Given the description of an element on the screen output the (x, y) to click on. 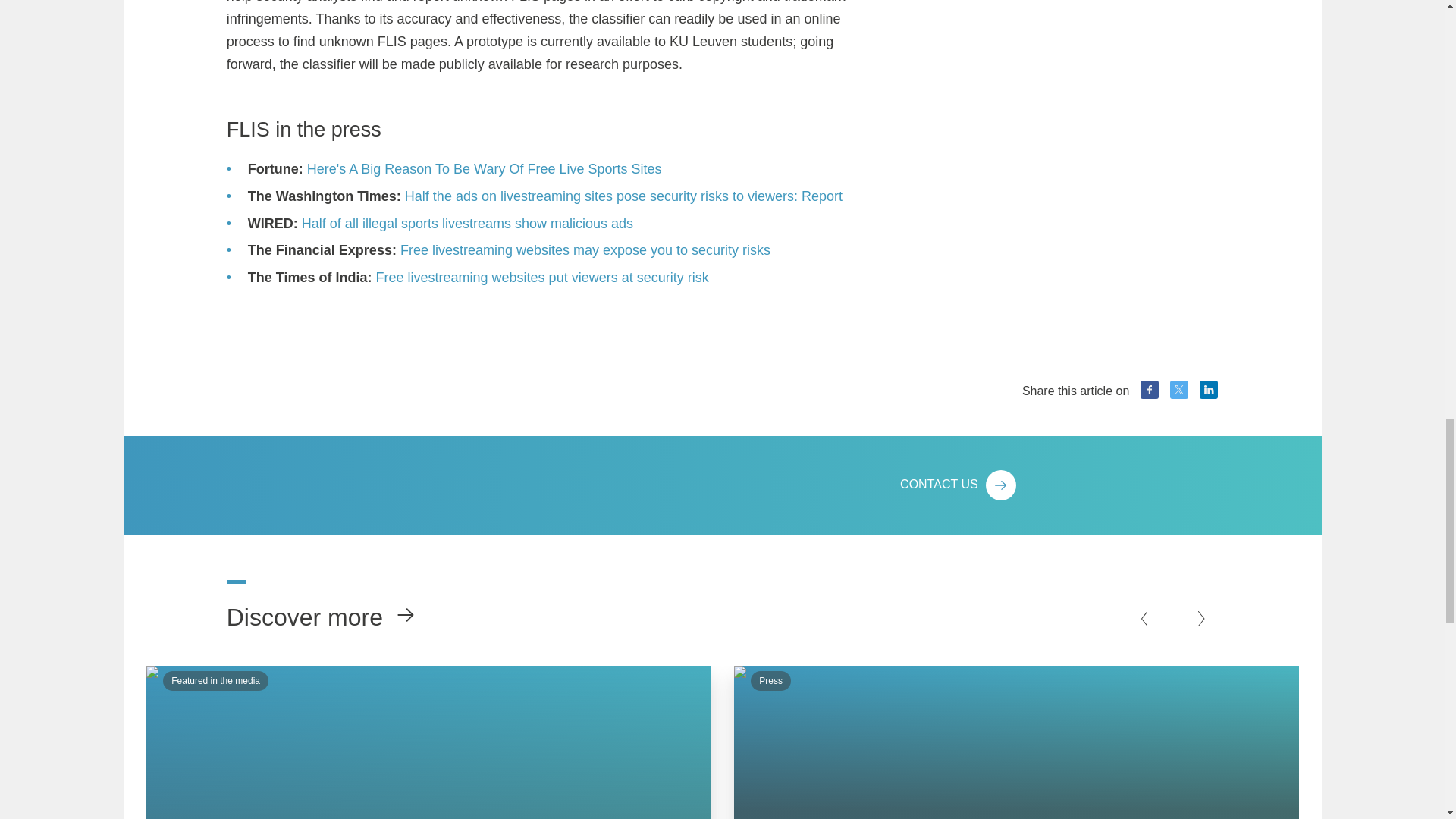
Here's A Big Reason To Be Wary Of Free Live Sports Sites (484, 169)
CONTACT US (1058, 485)
Discover more (310, 607)
Free livestreaming websites may expose you to security risks (585, 250)
Free livestreaming websites put viewers at security risk (542, 277)
LinkedIn (1208, 389)
X (1179, 389)
Facebook (1149, 389)
Half of all illegal sports livestreams show malicious ads (467, 222)
